Given the description of an element on the screen output the (x, y) to click on. 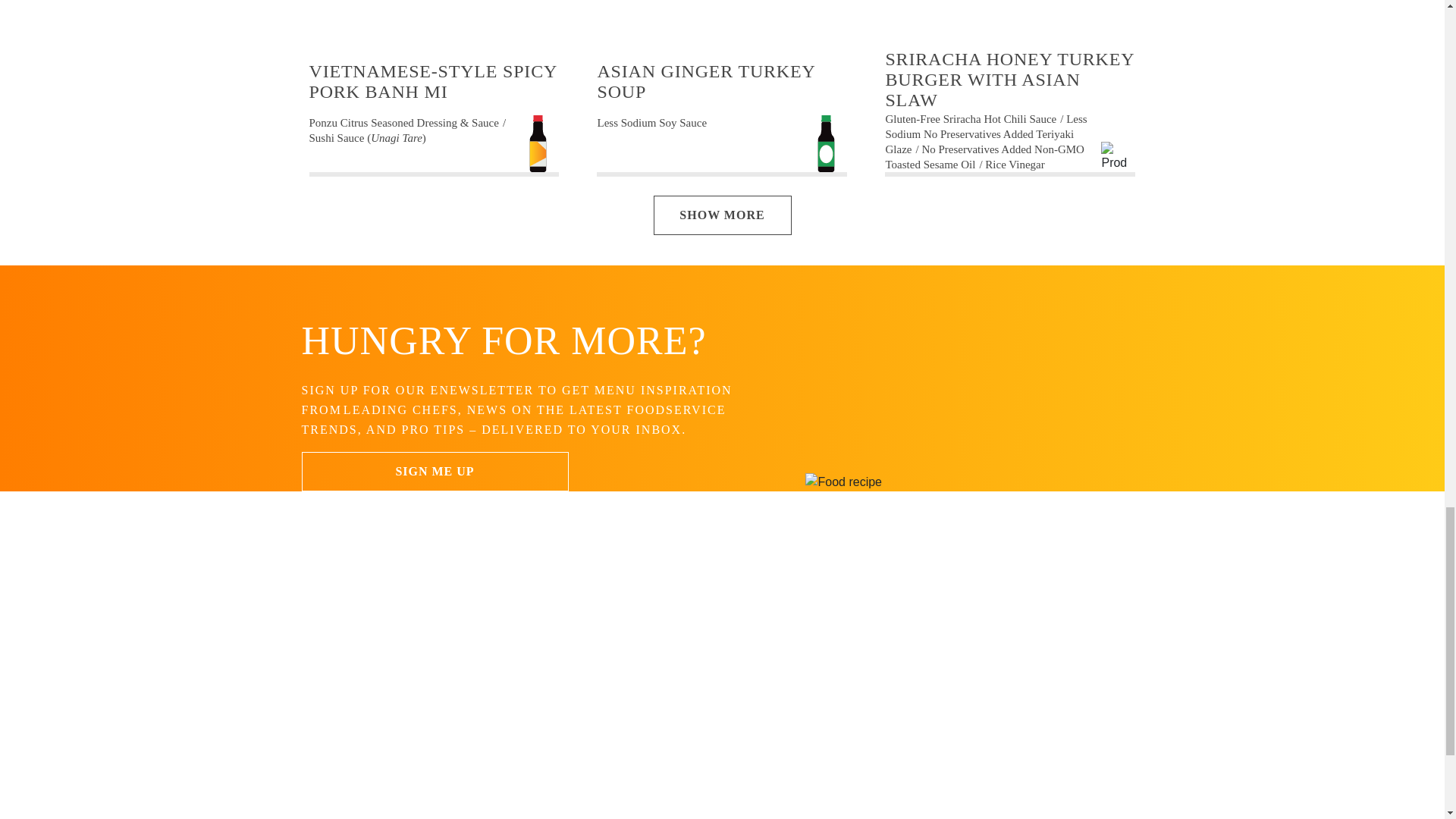
No Preservatives Added Non-GMO Toasted Sesame Oil (984, 156)
READ THE STORY OF SOY SAUCE (883, 768)
Gluten-Free Sriracha Hot Chili Sauce (973, 119)
SHOW MORE (722, 215)
Less Sodium Soy Sauce (651, 122)
Rice Vinegar (1014, 164)
Less Sodium No Preservatives Added Teriyaki Glaze (985, 134)
SIGN ME UP (435, 471)
recipe (433, 15)
